Given the description of an element on the screen output the (x, y) to click on. 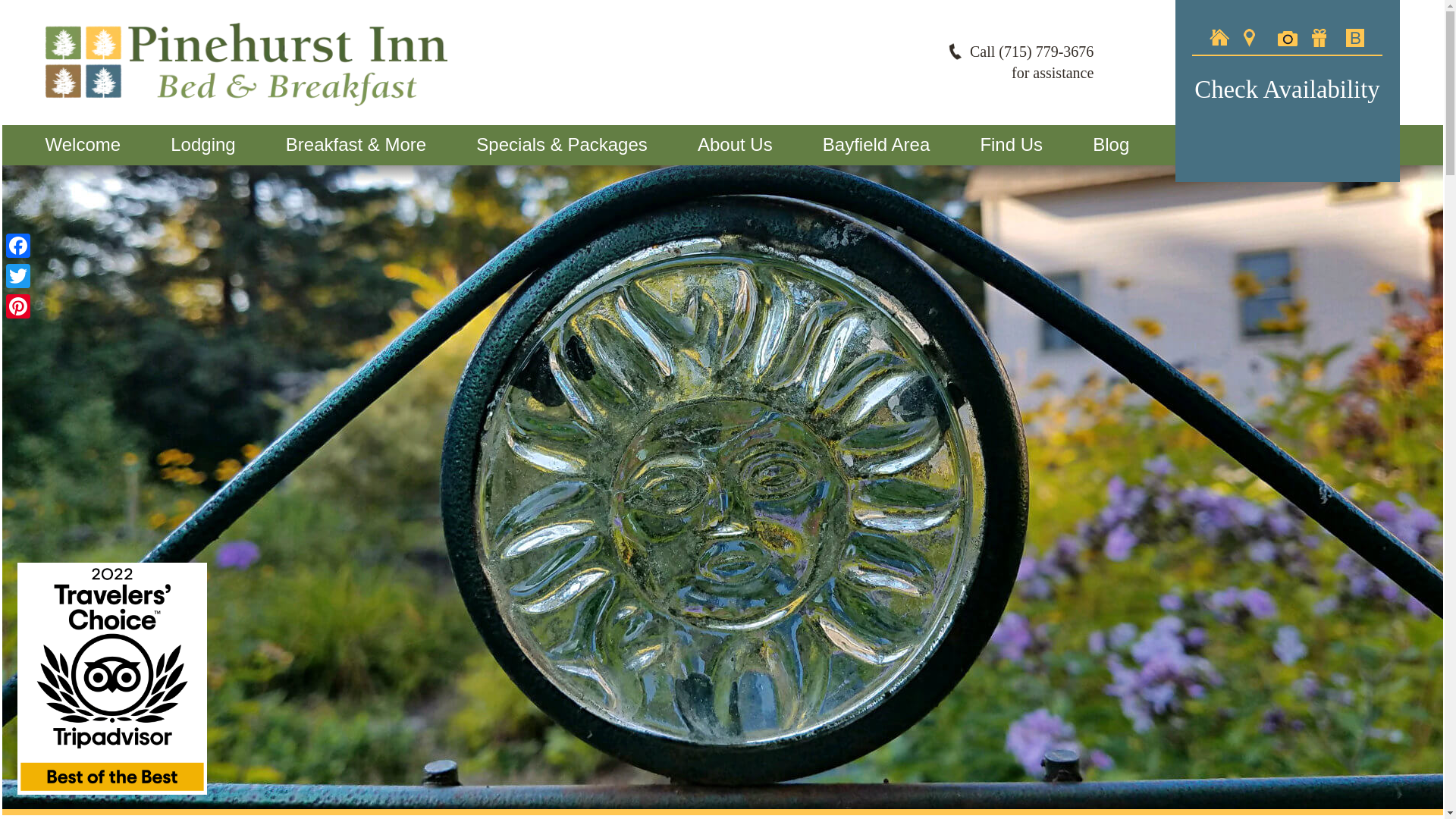
Welcome (82, 144)
Check Availability (1285, 89)
Lodging (202, 144)
